Given the description of an element on the screen output the (x, y) to click on. 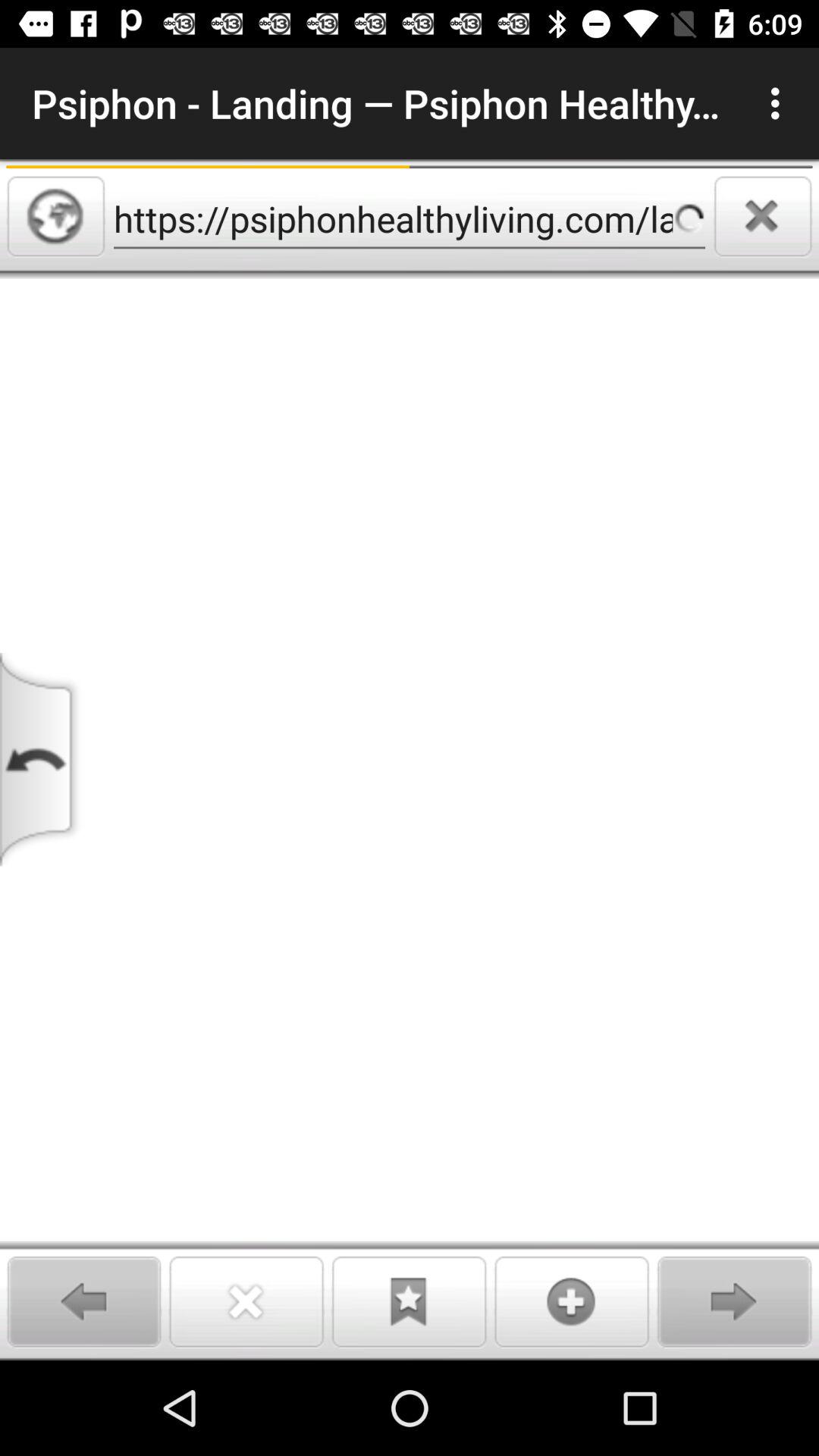
take me back a page (41, 759)
